Given the description of an element on the screen output the (x, y) to click on. 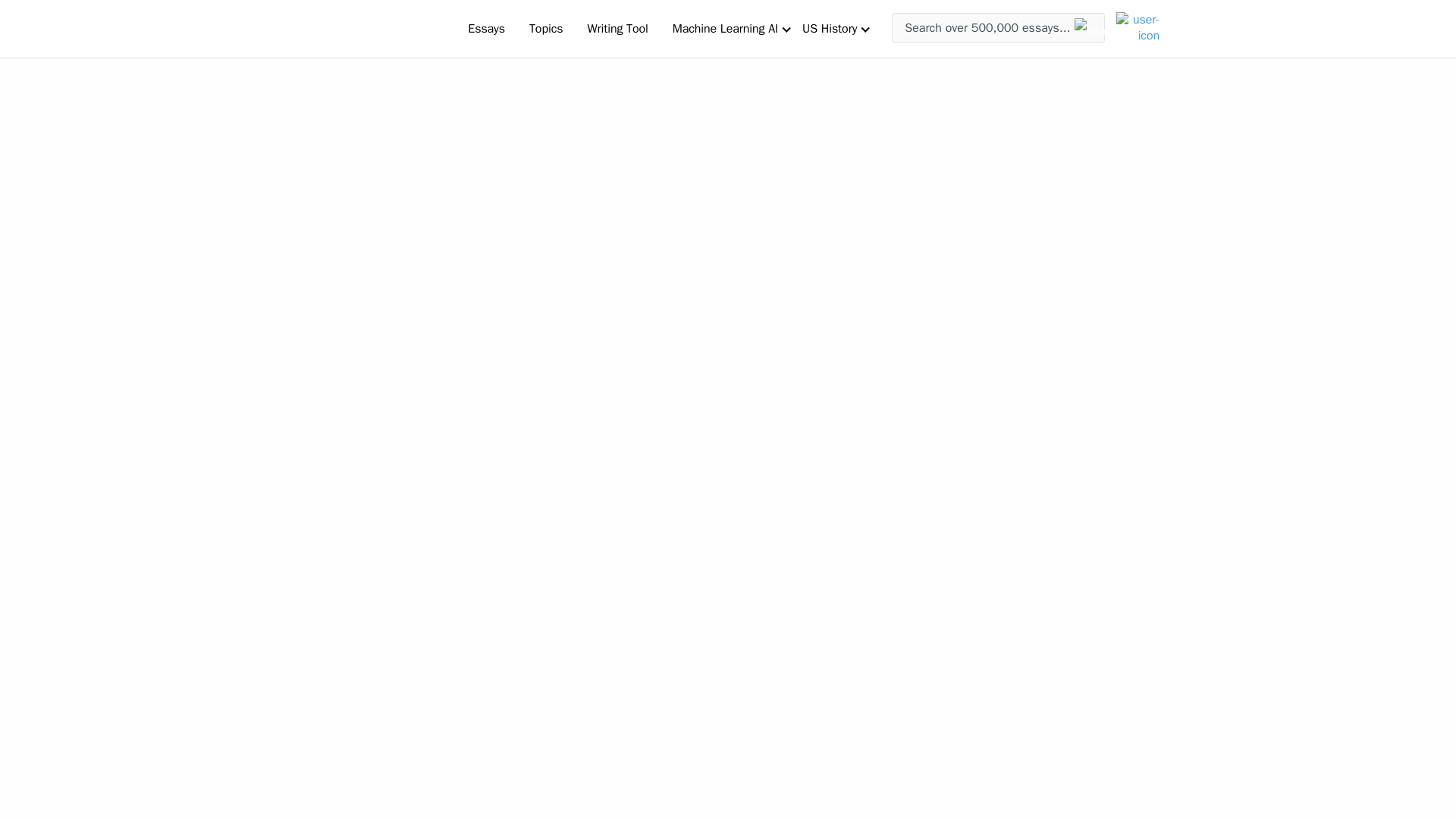
Essays (485, 28)
US History (829, 28)
Topics (545, 28)
Machine Learning AI (725, 28)
Writing Tool (617, 28)
